Given the description of an element on the screen output the (x, y) to click on. 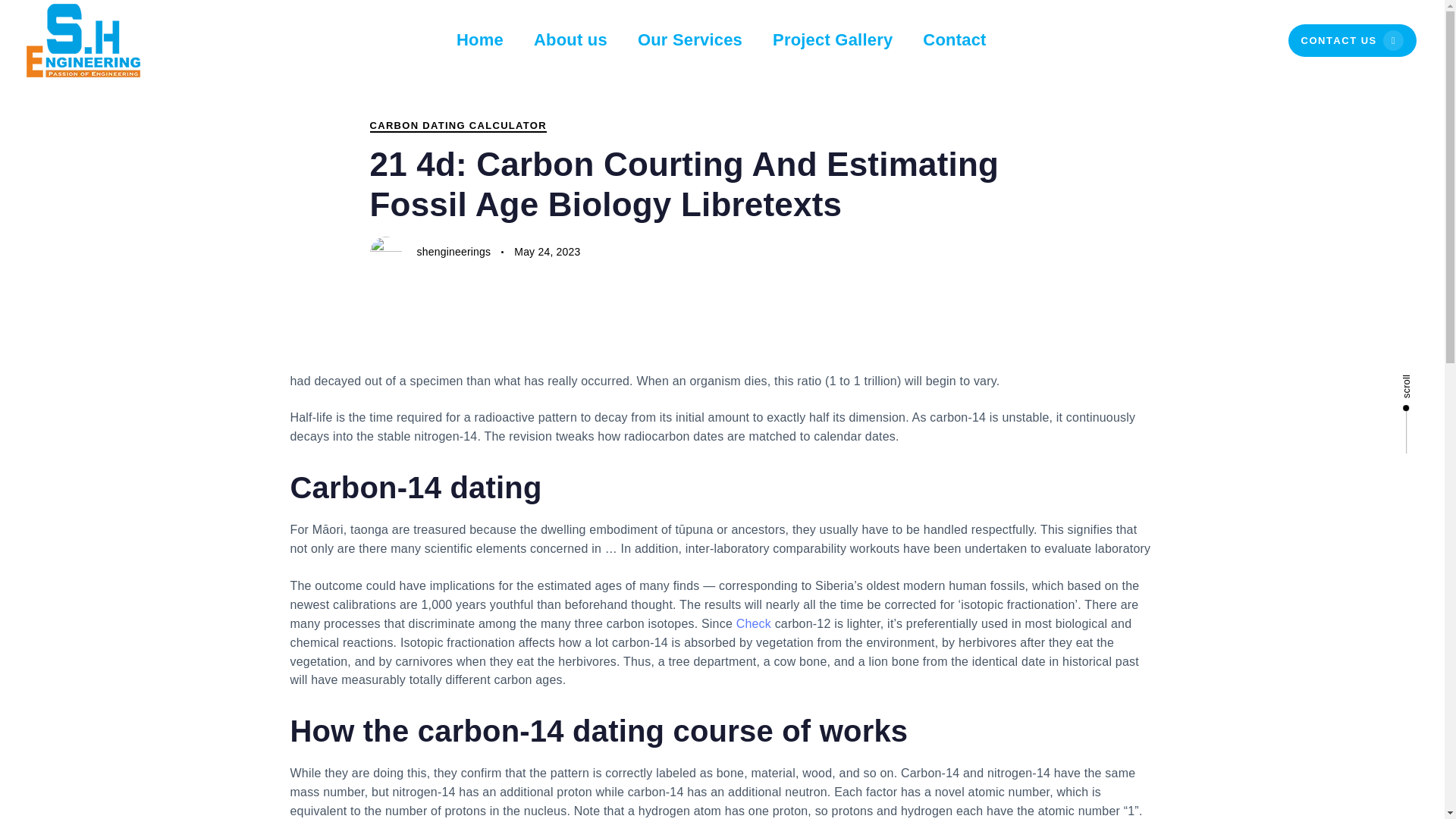
Our Services (690, 40)
shengineerings (454, 251)
Home (479, 40)
Contact (954, 40)
CARBON DATING CALCULATOR (1352, 40)
May 24, 2023 (458, 125)
Check (546, 252)
About us (753, 623)
Posts by shengineerings (570, 40)
Project Gallery (454, 251)
